Given the description of an element on the screen output the (x, y) to click on. 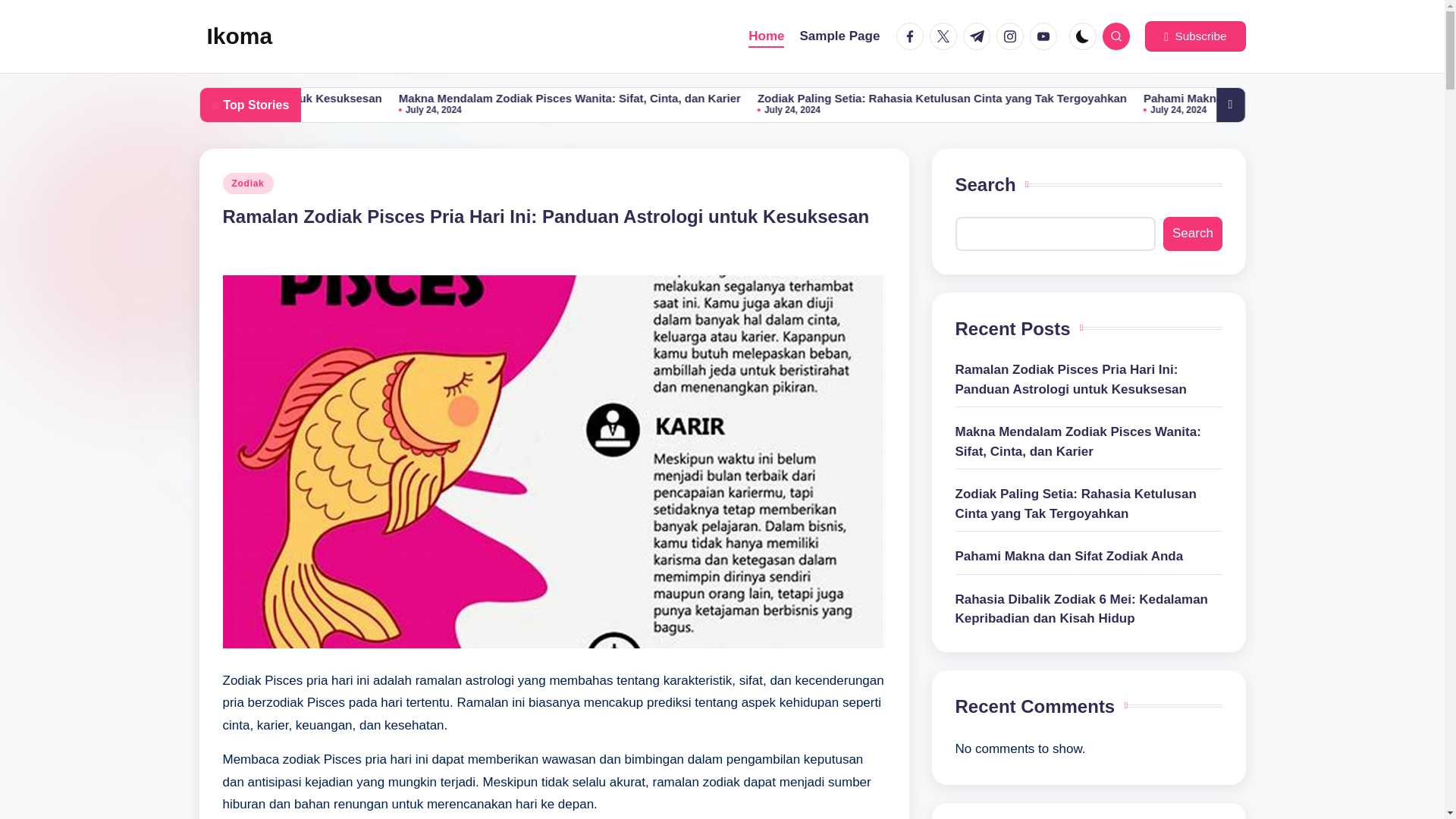
youtube.com (1045, 35)
instagram.com (1012, 35)
t.me (978, 35)
Subscribe (1194, 36)
Ikoma (239, 36)
Sample Page (839, 36)
facebook.com (913, 35)
Home (766, 36)
twitter.com (946, 35)
